Given the description of an element on the screen output the (x, y) to click on. 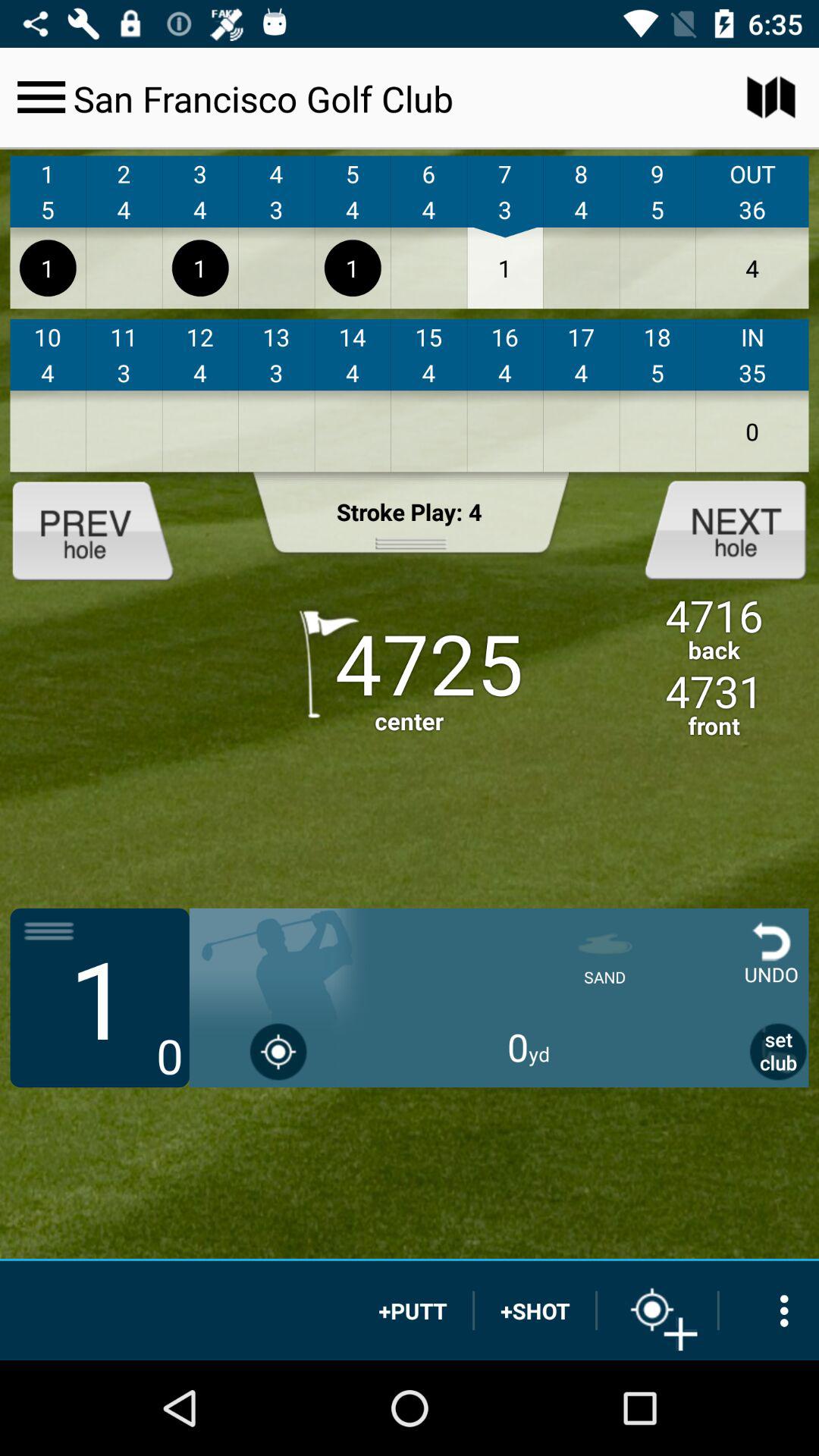
use your location (278, 1051)
